Given the description of an element on the screen output the (x, y) to click on. 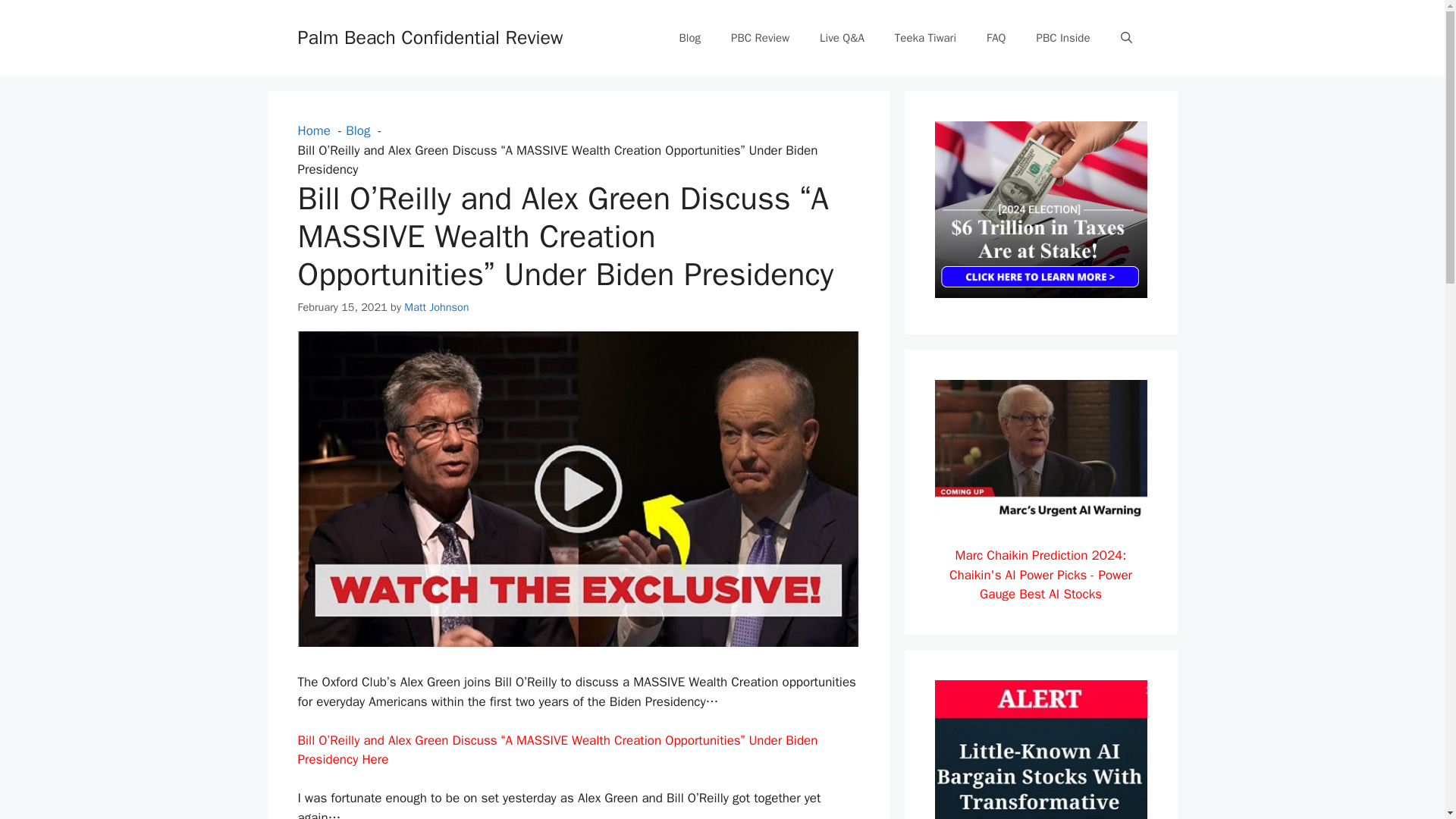
Matt Johnson (436, 306)
View all posts by Matt Johnson (436, 306)
Blog (689, 37)
Teeka Tiwari (925, 37)
Home (313, 130)
PBC Review (760, 37)
PBC Inside (1062, 37)
Blog (357, 130)
Palm Beach Confidential Review (429, 37)
FAQ (995, 37)
